Given the description of an element on the screen output the (x, y) to click on. 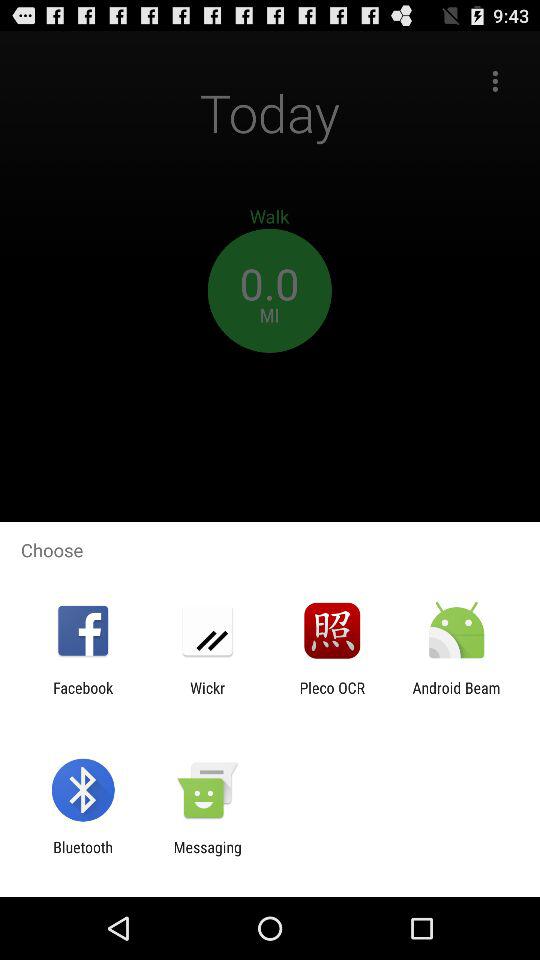
press app to the right of facebook app (207, 696)
